Given the description of an element on the screen output the (x, y) to click on. 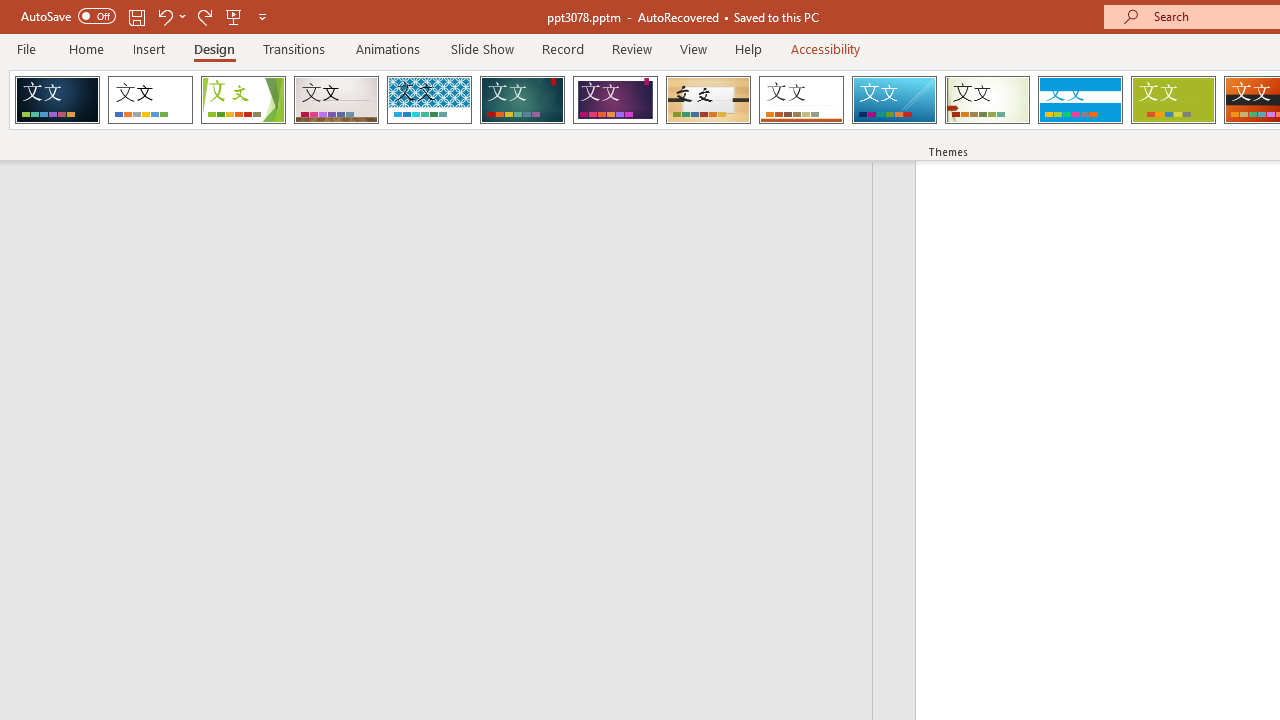
Office Theme (150, 100)
